Given the description of an element on the screen output the (x, y) to click on. 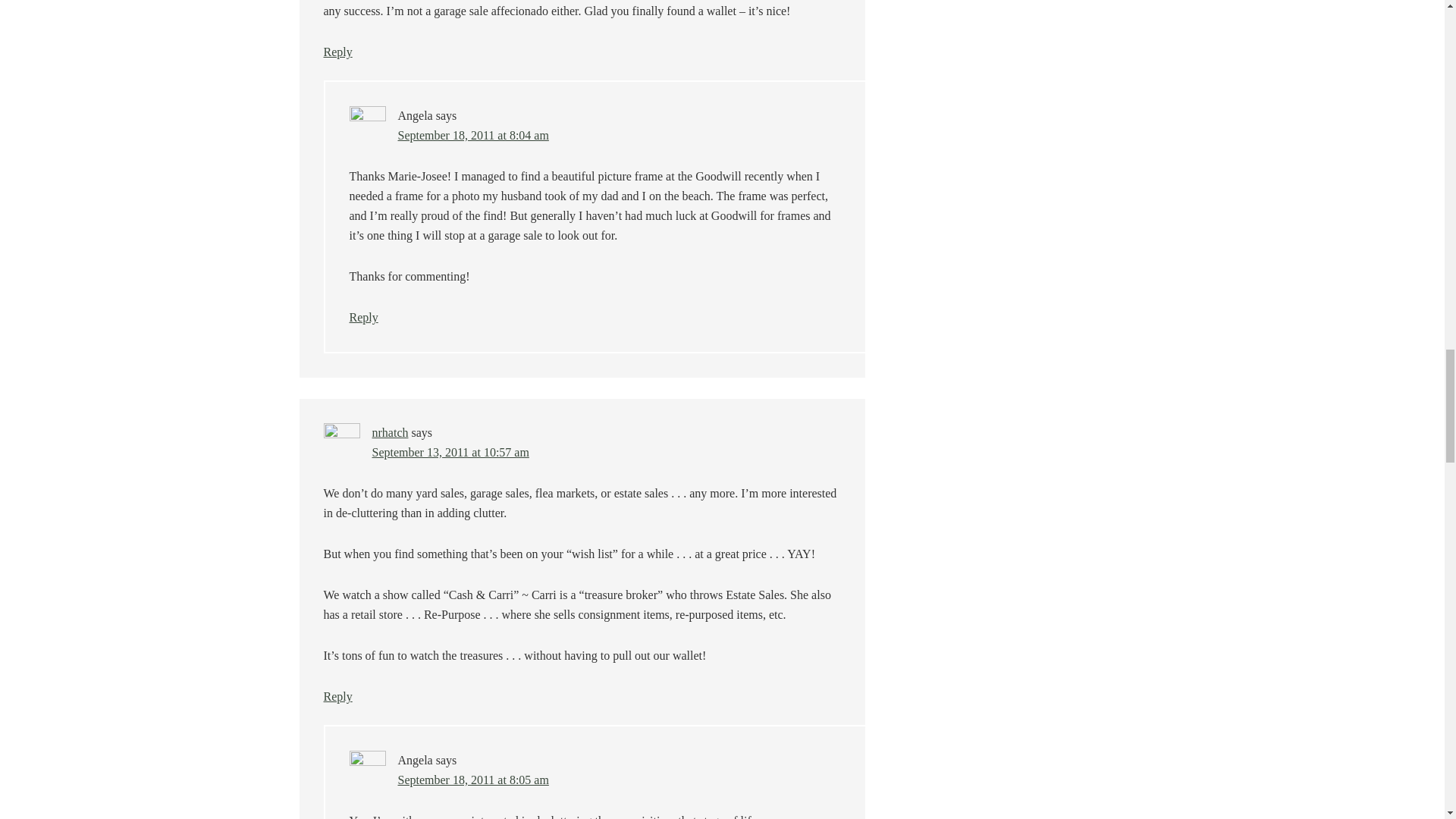
nrhatch (389, 431)
Reply (337, 51)
September 13, 2011 at 10:57 am (449, 451)
Reply (363, 317)
Reply (337, 696)
September 18, 2011 at 8:05 am (472, 779)
September 18, 2011 at 8:04 am (472, 134)
